Given the description of an element on the screen output the (x, y) to click on. 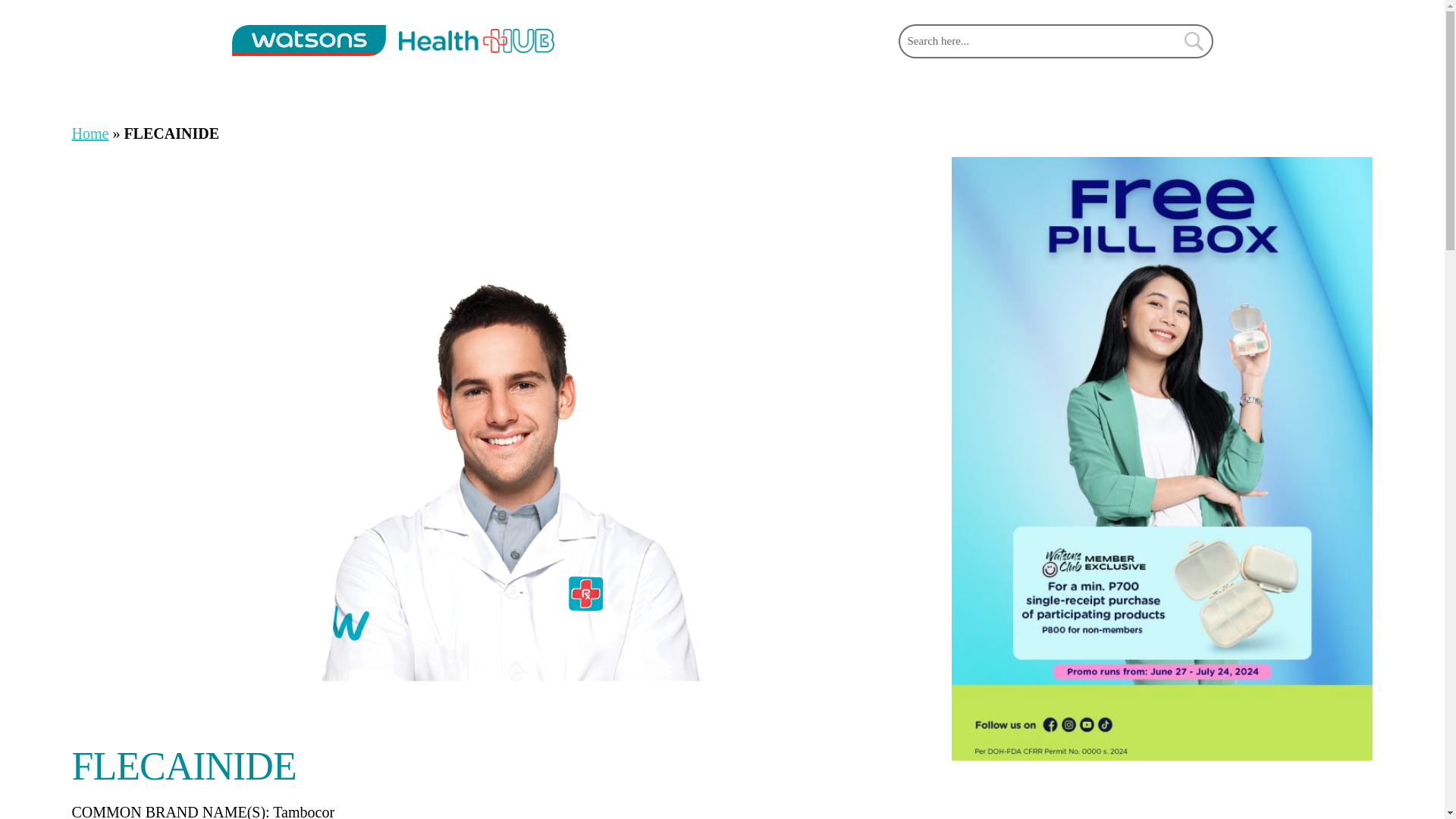
Home (89, 133)
